Given the description of an element on the screen output the (x, y) to click on. 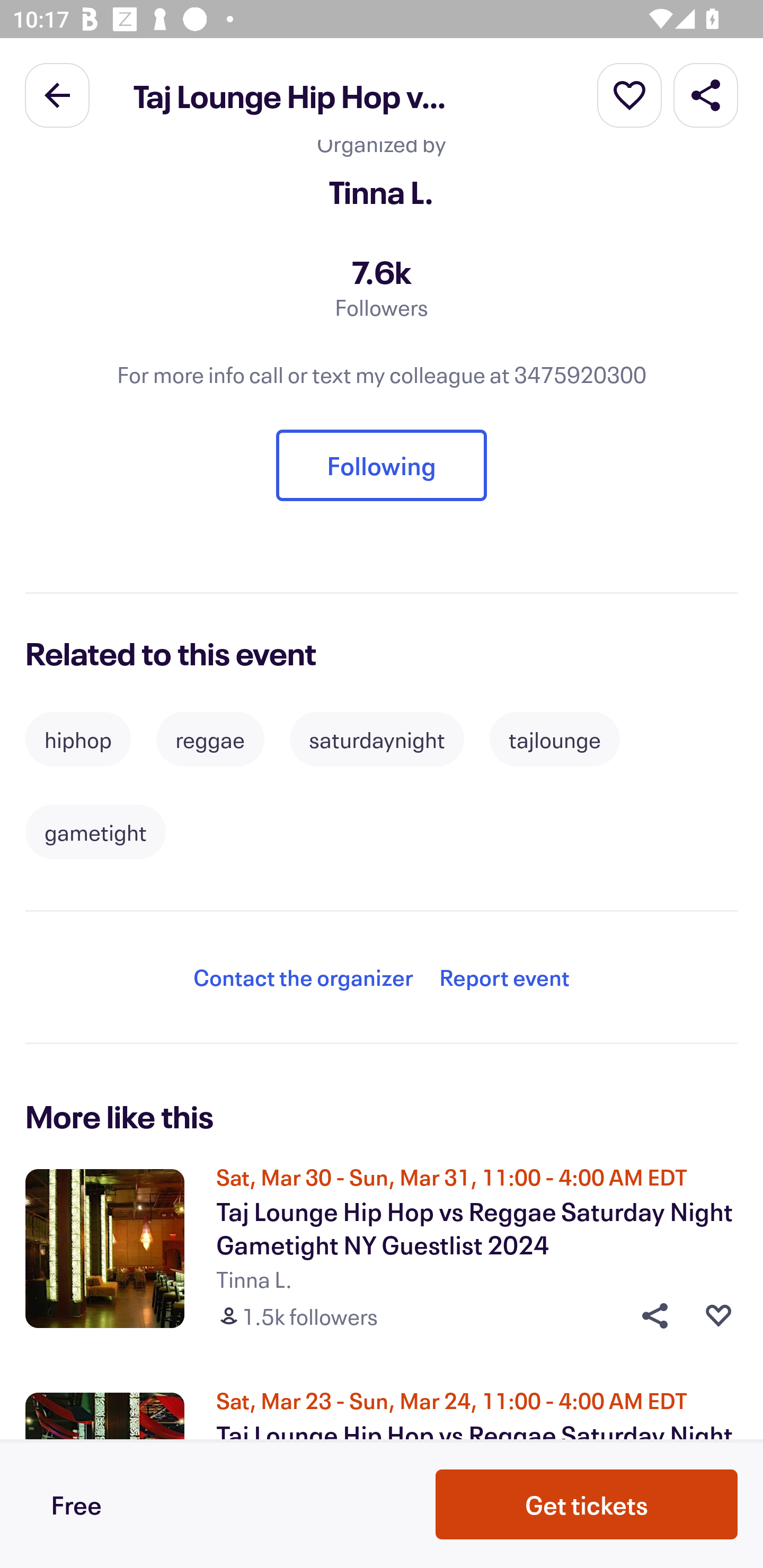
Back (57, 94)
More (629, 94)
Share (705, 94)
Tinna L. (381, 191)
Following (381, 465)
hiphop (78, 738)
reggae (210, 738)
saturdaynight (376, 738)
tajlounge (554, 738)
gametight (95, 831)
Contact the organizer (303, 977)
Report event (504, 977)
Share (648, 1315)
Like (718, 1315)
Get tickets (586, 1504)
